Given the description of an element on the screen output the (x, y) to click on. 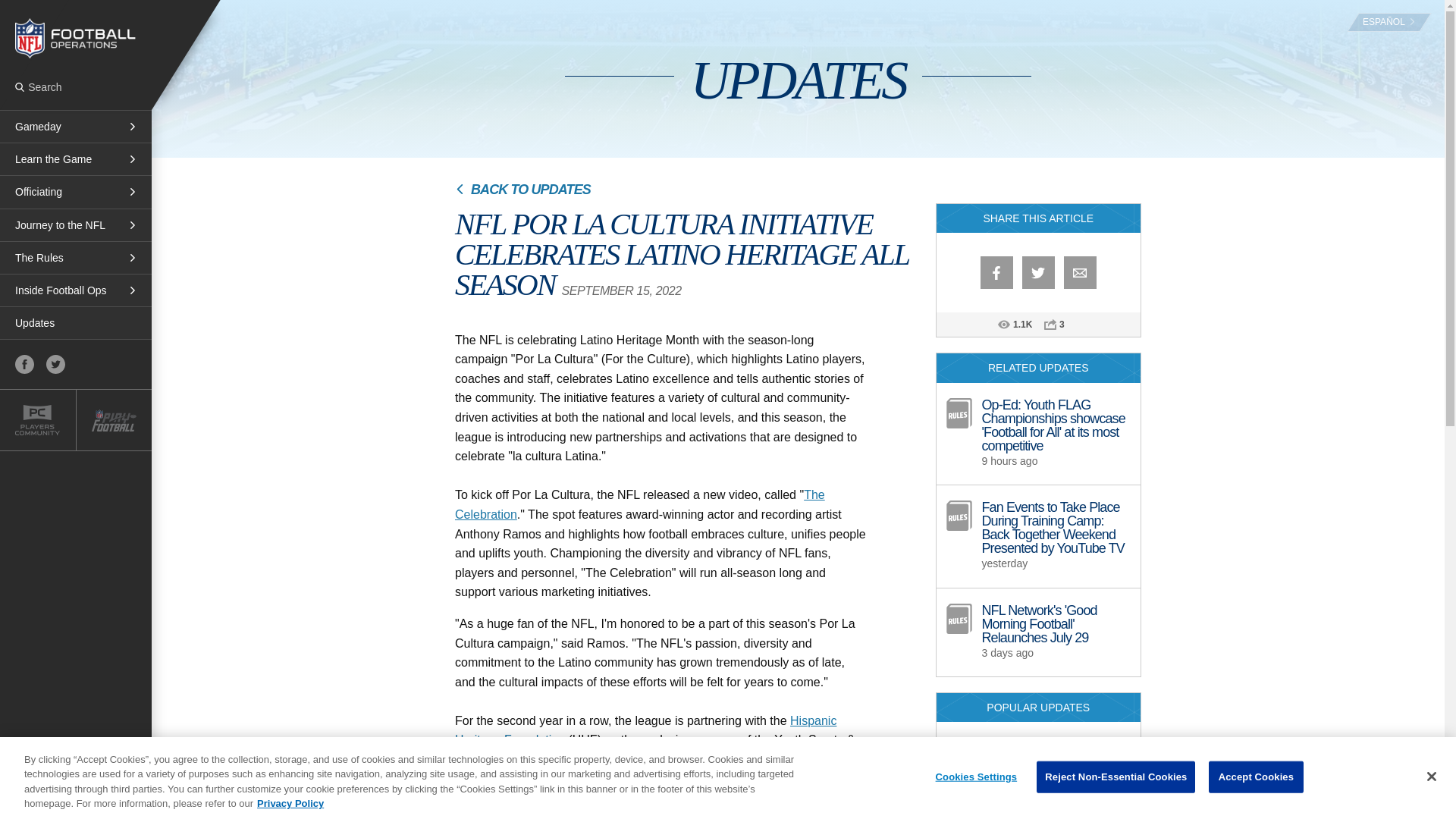
Gameday (75, 126)
Number of Views (1022, 324)
Play Football (113, 420)
NFL Football Operations (75, 37)
Players Community (37, 420)
Number of Shares (1068, 324)
Learn the Game (75, 159)
